Given the description of an element on the screen output the (x, y) to click on. 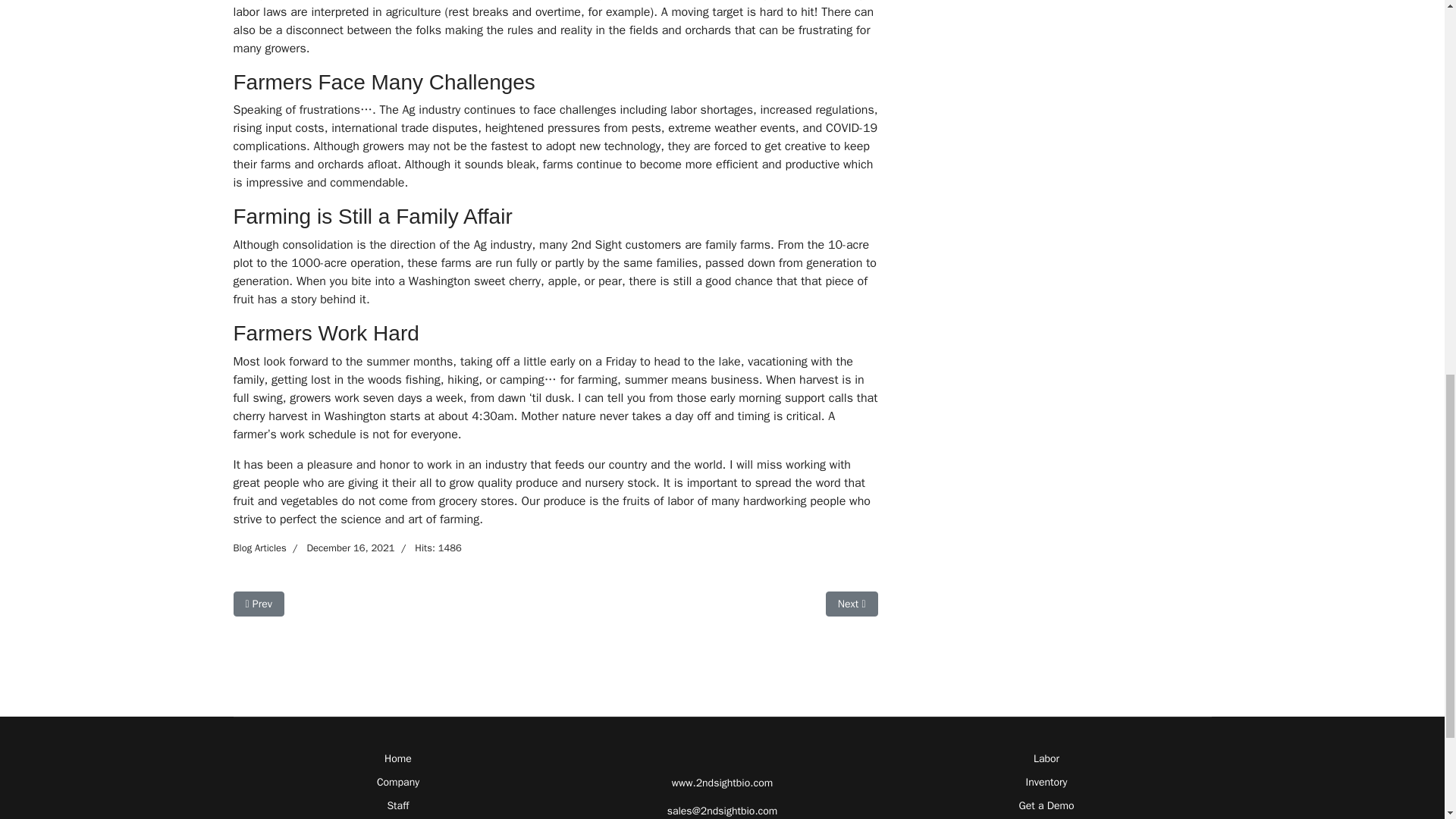
Published: December 16, 2021 (340, 548)
Category: Blog Articles (259, 548)
Blog Articles (259, 547)
